Given the description of an element on the screen output the (x, y) to click on. 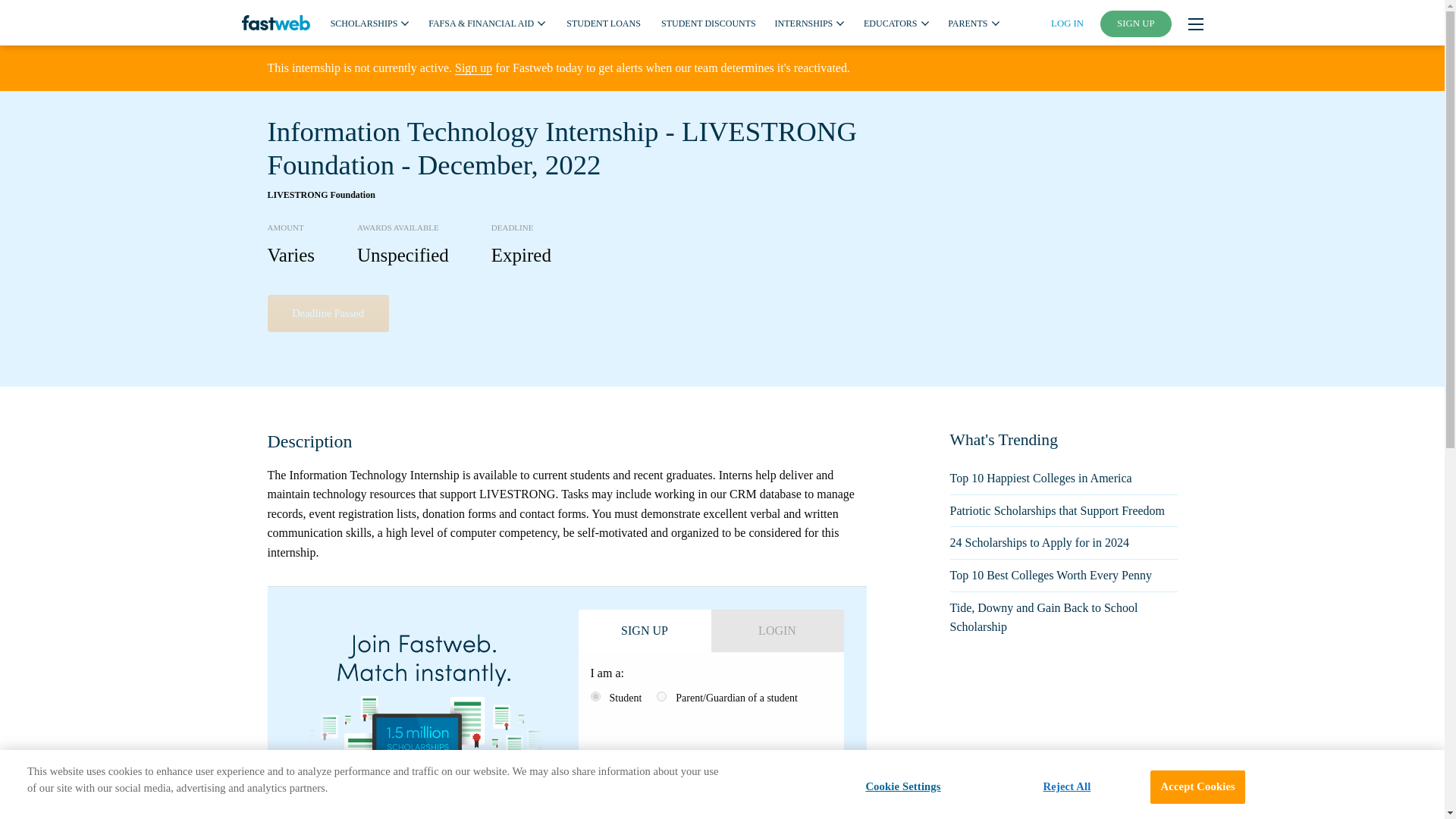
SIGN UP (1136, 23)
LOG IN (1067, 23)
STUDENT DISCOUNTS (708, 22)
2 (661, 696)
STUDENT LOANS (603, 22)
1 (594, 696)
